Given the description of an element on the screen output the (x, y) to click on. 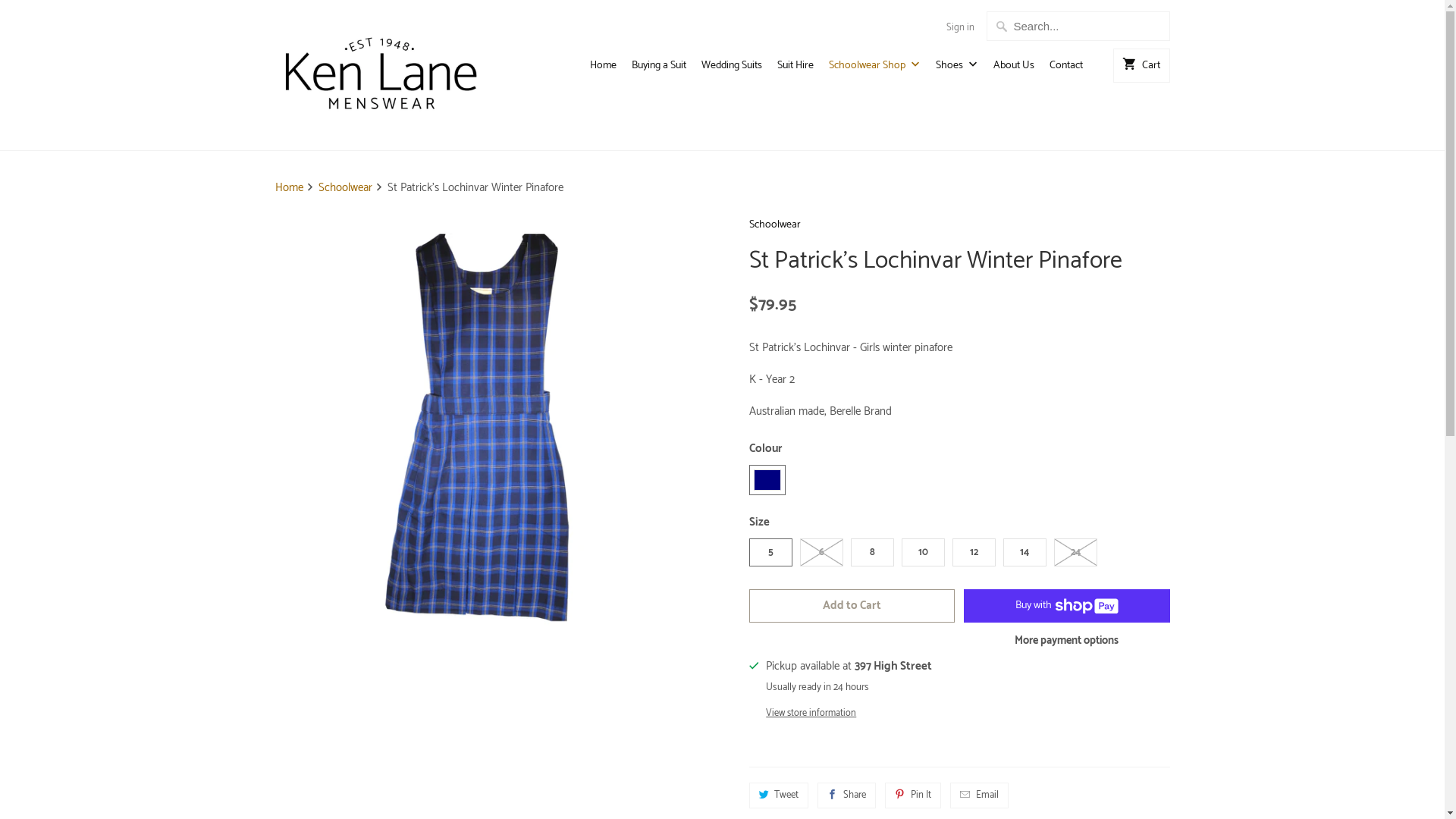
Pin It Element type: text (912, 795)
Share Element type: text (846, 795)
Home Element type: text (602, 69)
About Us Element type: text (1013, 69)
Ken Lane Menswear Element type: hover (380, 74)
Schoolwear Shop Element type: text (874, 69)
Shoes Element type: text (956, 69)
Tweet Element type: text (779, 795)
Contact Element type: text (1065, 69)
Add to Cart Element type: text (852, 605)
Buying a Suit Element type: text (658, 69)
St Patrick's Lochinvar Winter Pinafore Element type: hover (484, 424)
Wedding Suits Element type: text (731, 69)
View store information Element type: text (848, 713)
Cart Element type: text (1141, 65)
Suit Hire Element type: text (795, 69)
Schoolwear Element type: text (346, 187)
Sign in Element type: text (960, 27)
Home Element type: text (289, 187)
Email Element type: text (979, 795)
More payment options Element type: text (1066, 645)
Schoolwear Element type: text (959, 228)
